Given the description of an element on the screen output the (x, y) to click on. 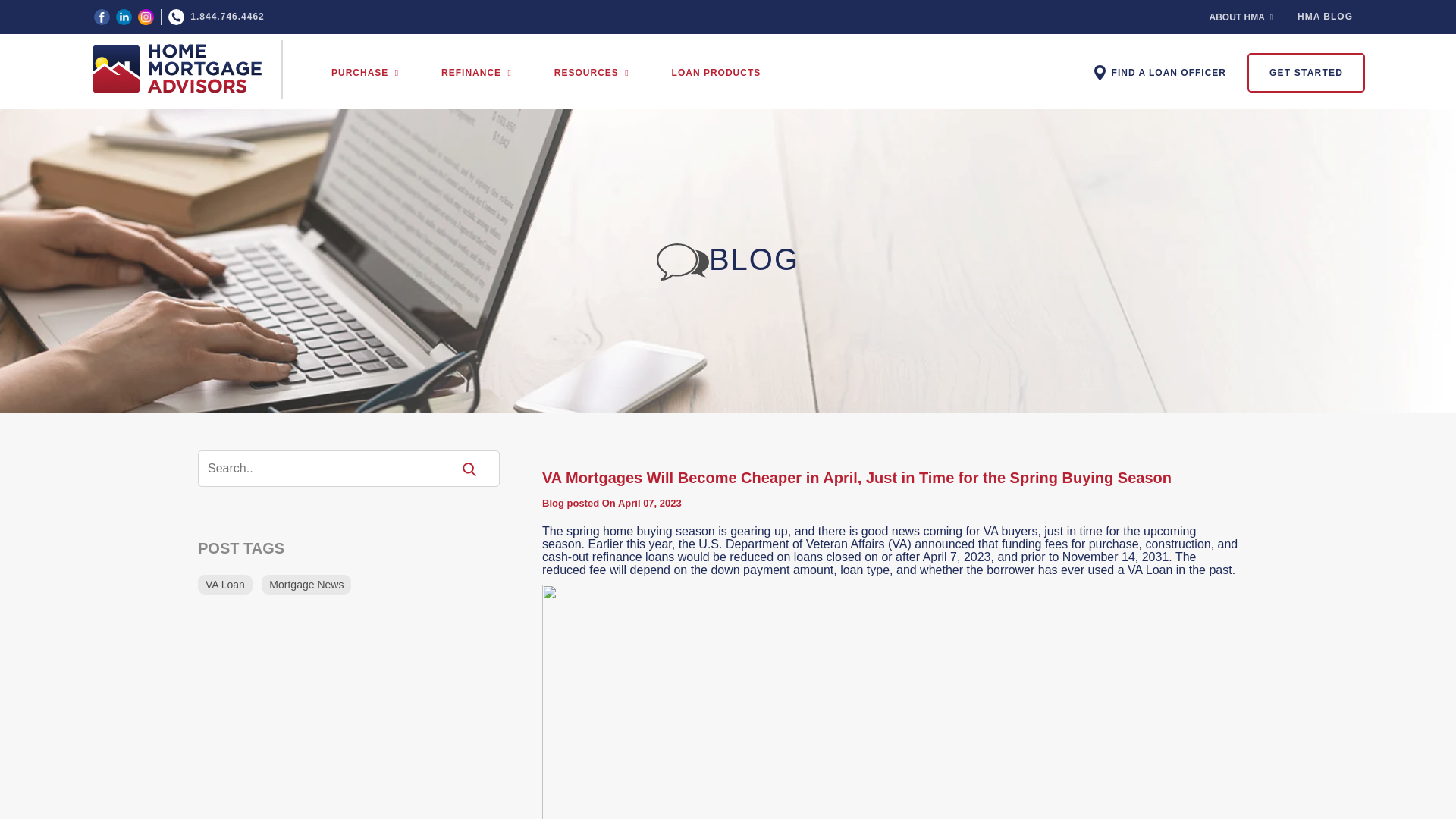
1.844.746.4462 (216, 17)
Search (334, 468)
HMA BLOG (1324, 17)
